Given the description of an element on the screen output the (x, y) to click on. 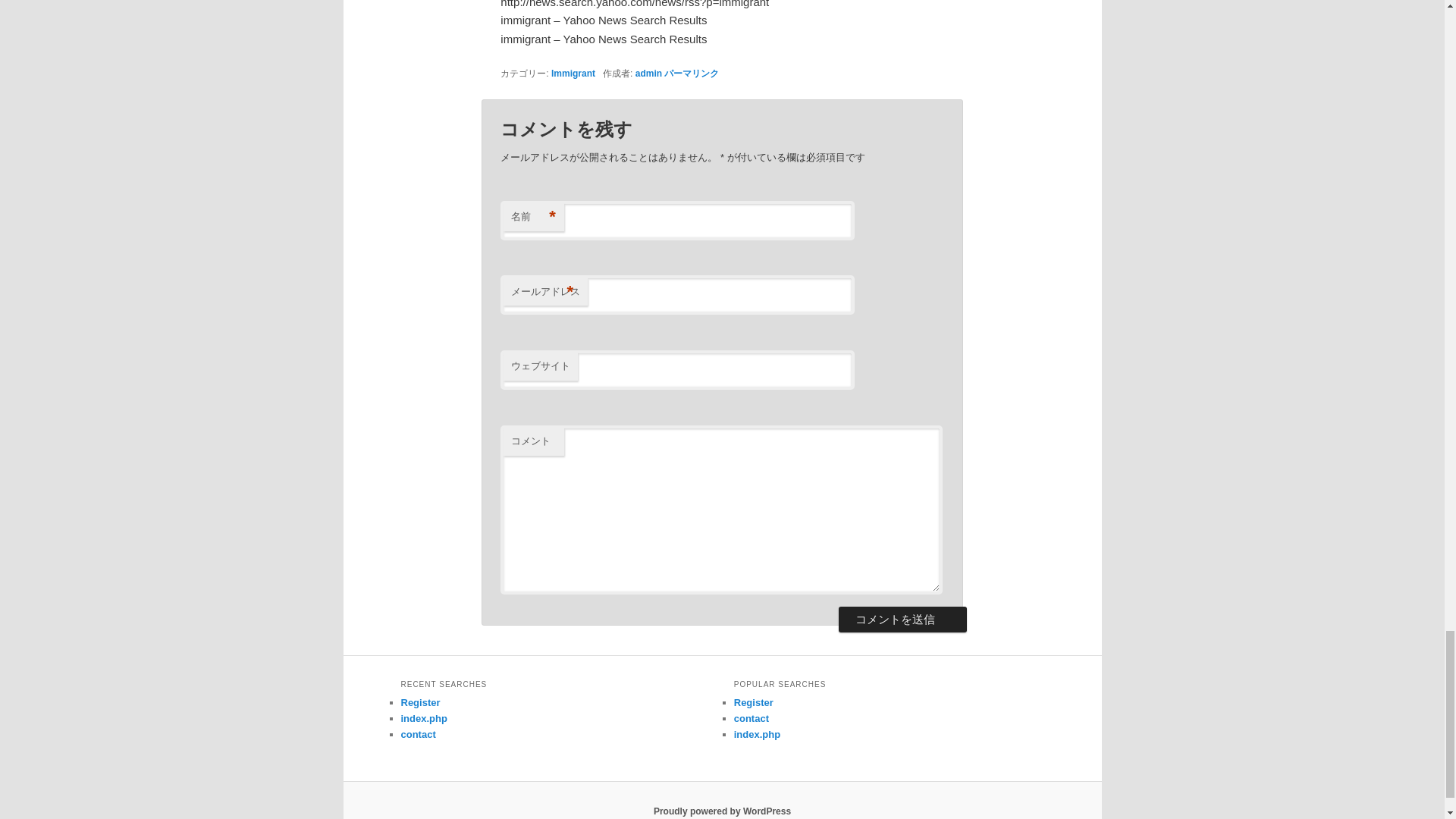
Register (419, 702)
admin (648, 72)
Immigrant (573, 72)
index.php (423, 717)
contact (750, 717)
contact (417, 734)
Proudly powered by WordPress (721, 810)
index.php (756, 734)
Register (753, 702)
